Given the description of an element on the screen output the (x, y) to click on. 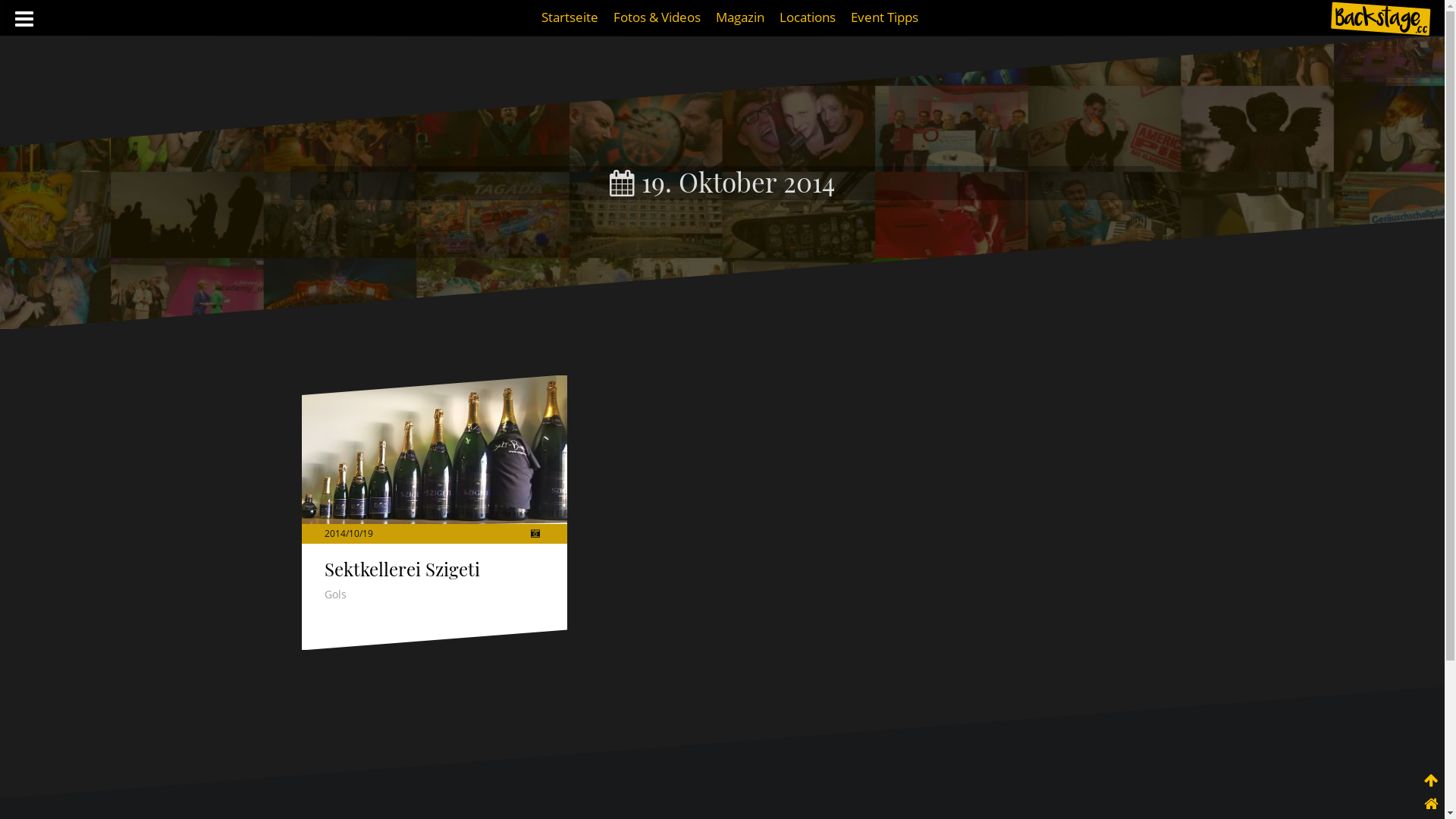
Startseite Element type: text (569, 16)
Magazin Element type: text (739, 16)
Suche Element type: text (26, 20)
10 Element type: text (353, 533)
Sektkellerei Szigeti Element type: hover (434, 449)
Sektkellerei Szigeti Element type: text (402, 568)
Locations Element type: text (807, 16)
Fotos & Videos Element type: text (656, 16)
Event Tipps Element type: text (884, 16)
19. Oktober 2014 Element type: text (722, 182)
BACKSTAGE.cc - behind the scenes Element type: hover (1380, 18)
19 Element type: text (367, 533)
2014 Element type: text (334, 533)
3D Fotos Element type: hover (534, 533)
Gols Element type: text (335, 593)
